Given the description of an element on the screen output the (x, y) to click on. 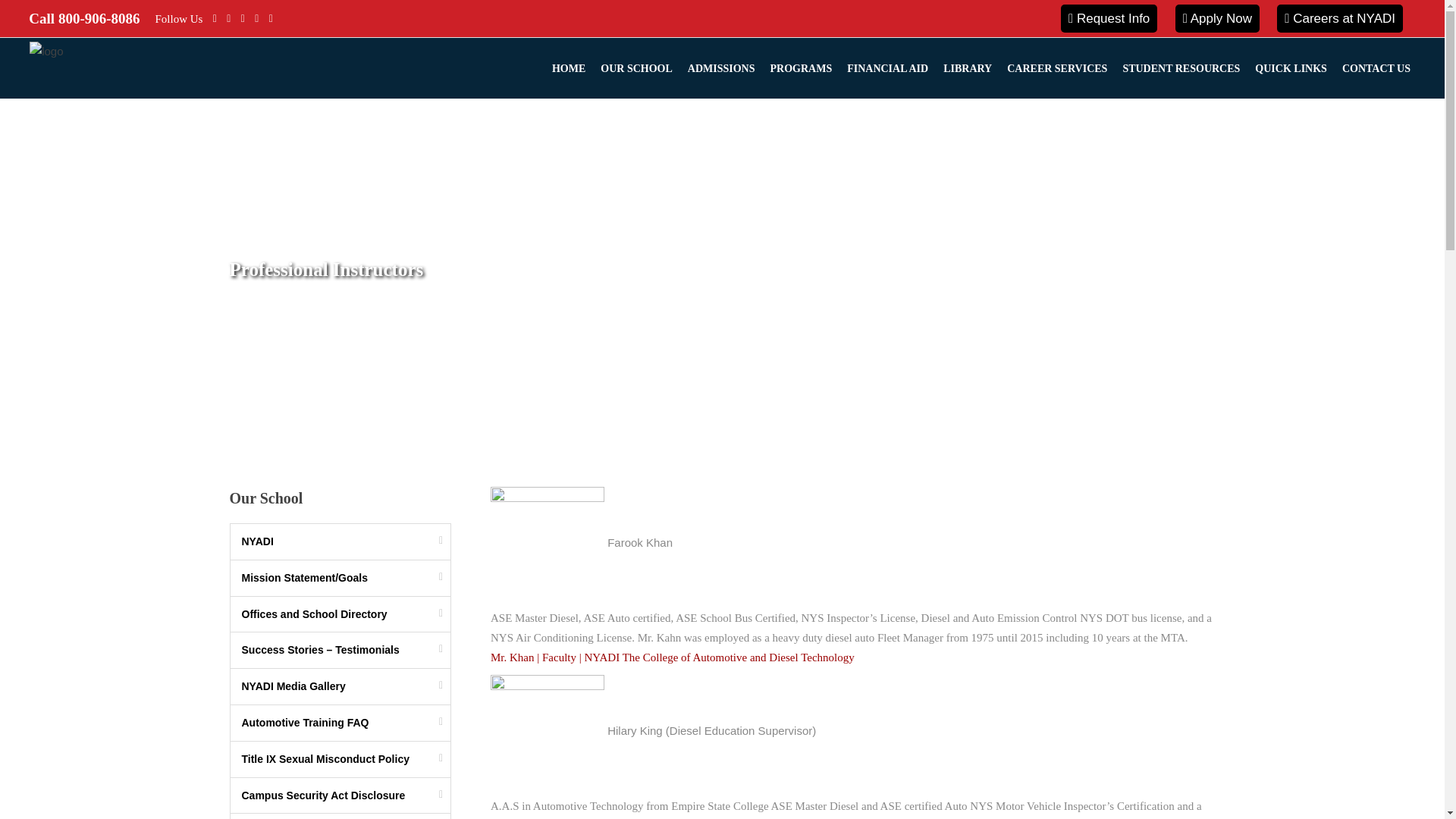
Careers at NYADI (1339, 18)
Apply Now (1216, 18)
800-906-8086 (98, 18)
Request Info (1109, 18)
ADMISSIONS (720, 67)
OUR SCHOOL (635, 67)
